Given the description of an element on the screen output the (x, y) to click on. 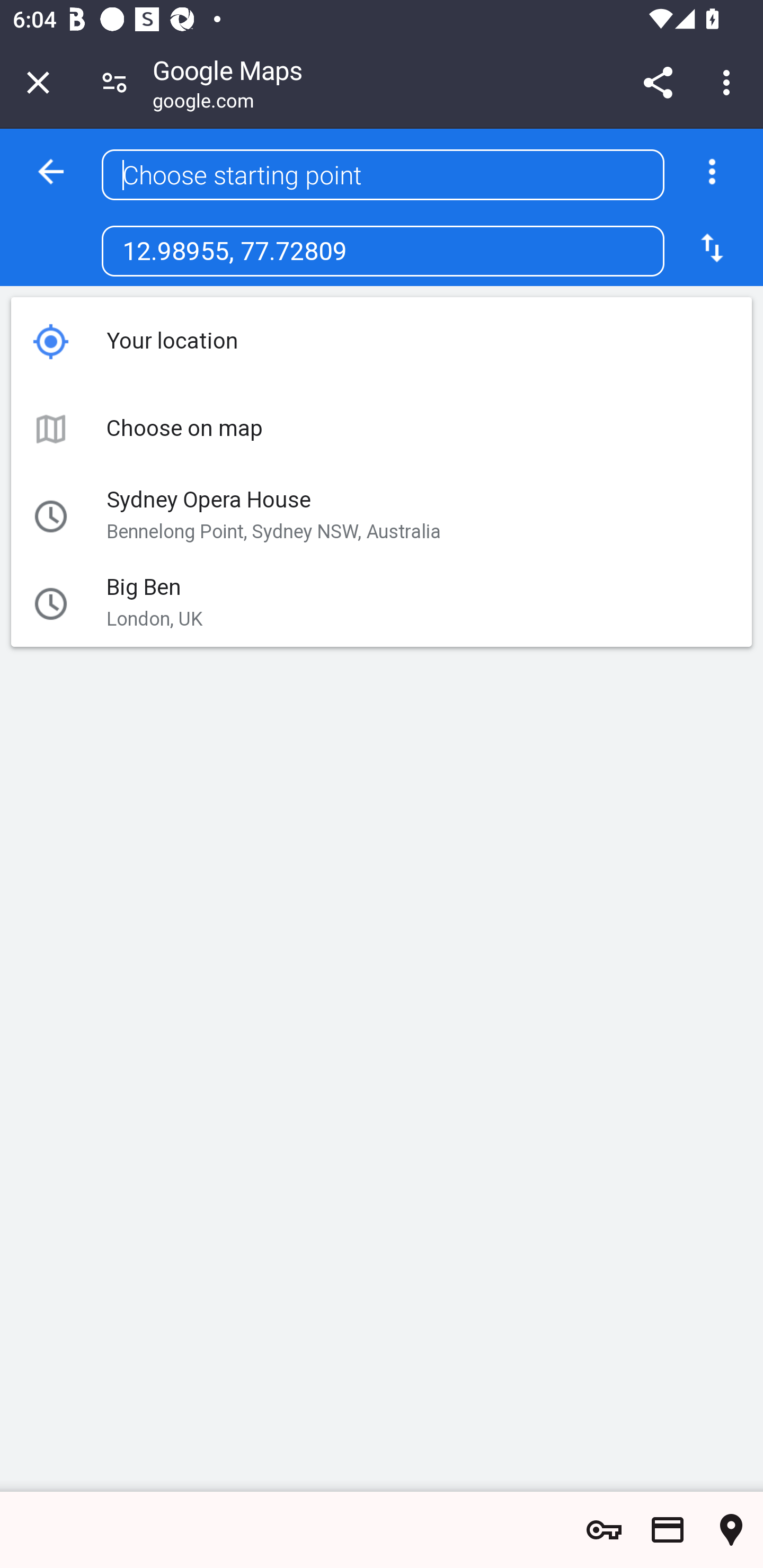
Close tab (38, 82)
Share (657, 82)
Customize and control Google Chrome (729, 82)
Connection is secure (114, 81)
google.com (203, 103)
Back (50, 171)
More options (711, 171)
Reverse starting point and destination (711, 247)
12.98955, 77.72809 (383, 250)
Big Ben London, UK (347, 602)
Show saved passwords and password options (603, 1530)
Show saved payment methods (667, 1530)
Show saved addresses (731, 1530)
